Given the description of an element on the screen output the (x, y) to click on. 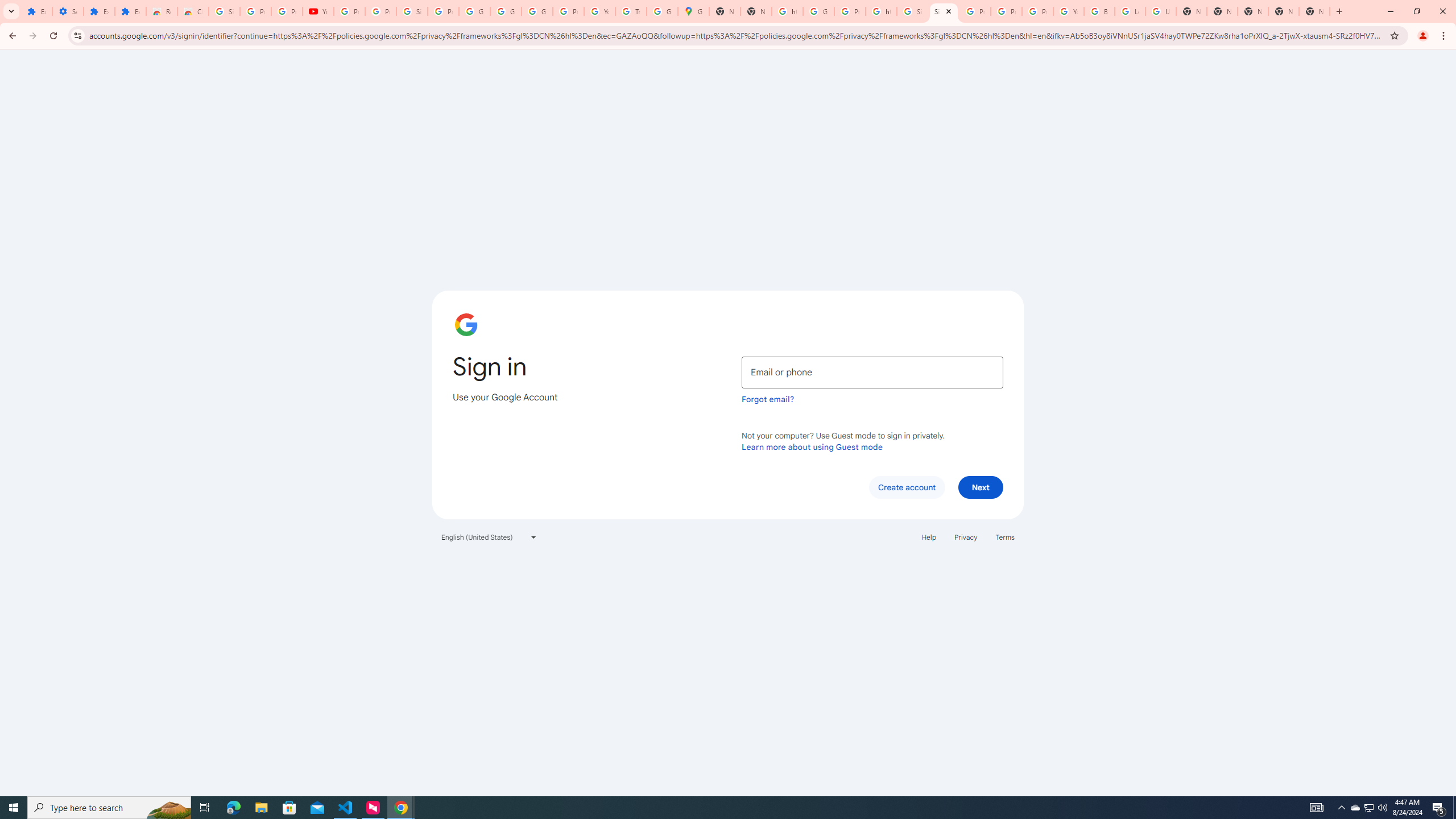
Email or phone (872, 372)
Forgot email? (767, 398)
https://scholar.google.com/ (881, 11)
